Given the description of an element on the screen output the (x, y) to click on. 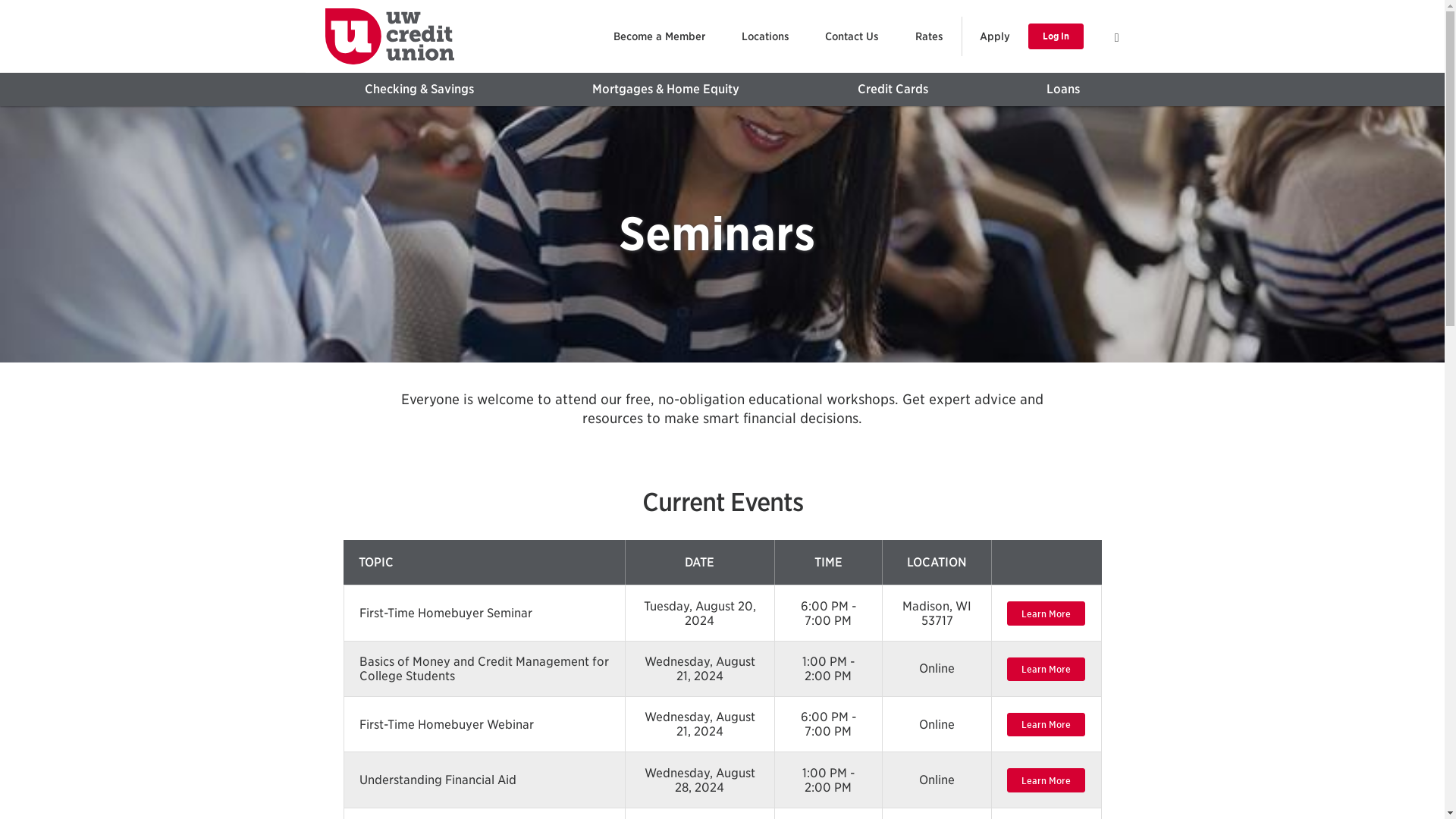
Locations (765, 35)
Apply (994, 35)
Contact Us (851, 35)
UW Credit Union (388, 36)
Rates (929, 35)
Log In (1055, 36)
Become a Member (659, 35)
